Given the description of an element on the screen output the (x, y) to click on. 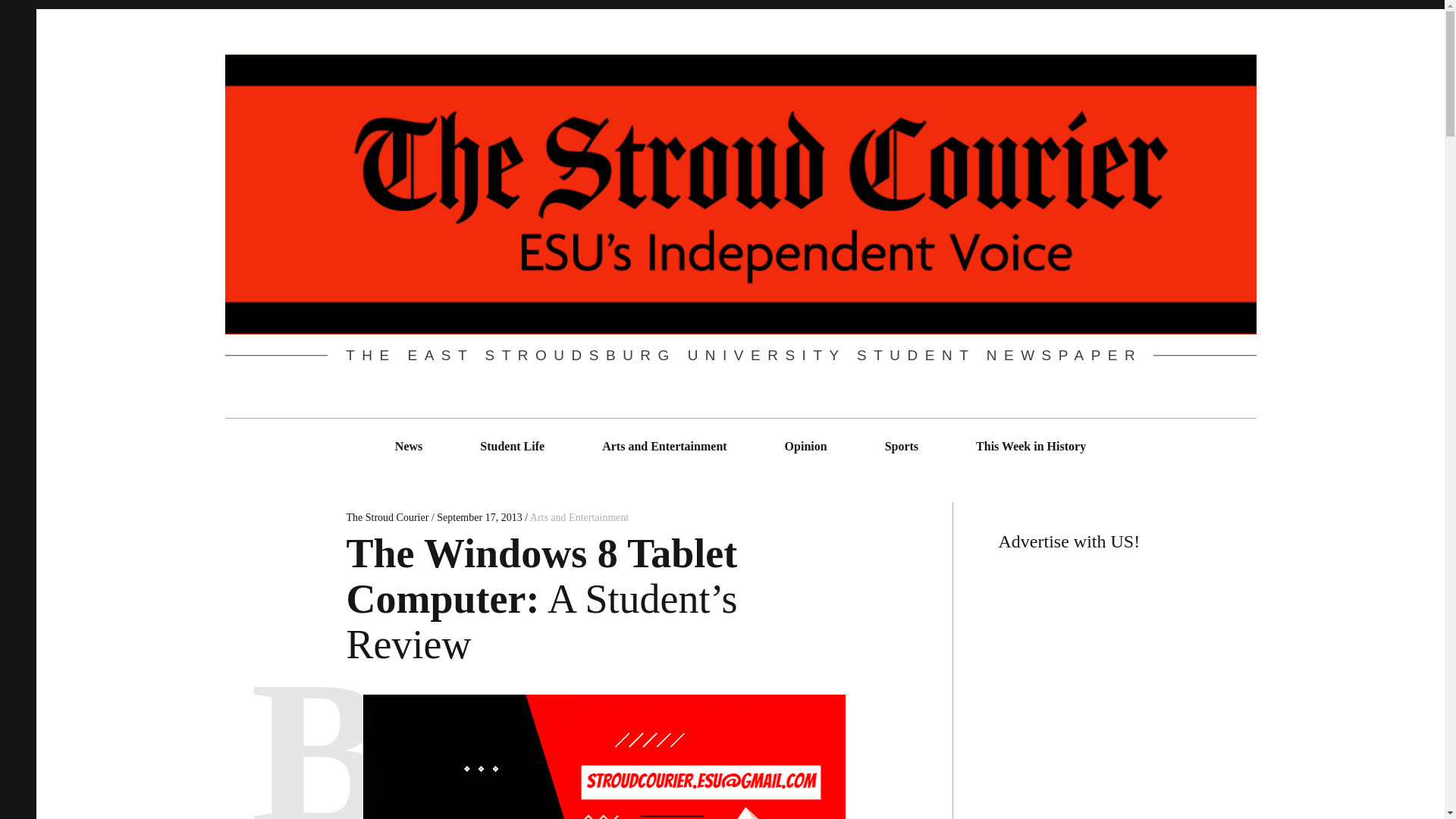
Student Life (512, 446)
The Stroud Courier (388, 517)
Arts and Entertainment (578, 517)
This Week in History (1031, 446)
News (408, 446)
Opinion (805, 446)
Arts and Entertainment (664, 446)
September 17, 2013 (478, 517)
Sports (900, 446)
